Given the description of an element on the screen output the (x, y) to click on. 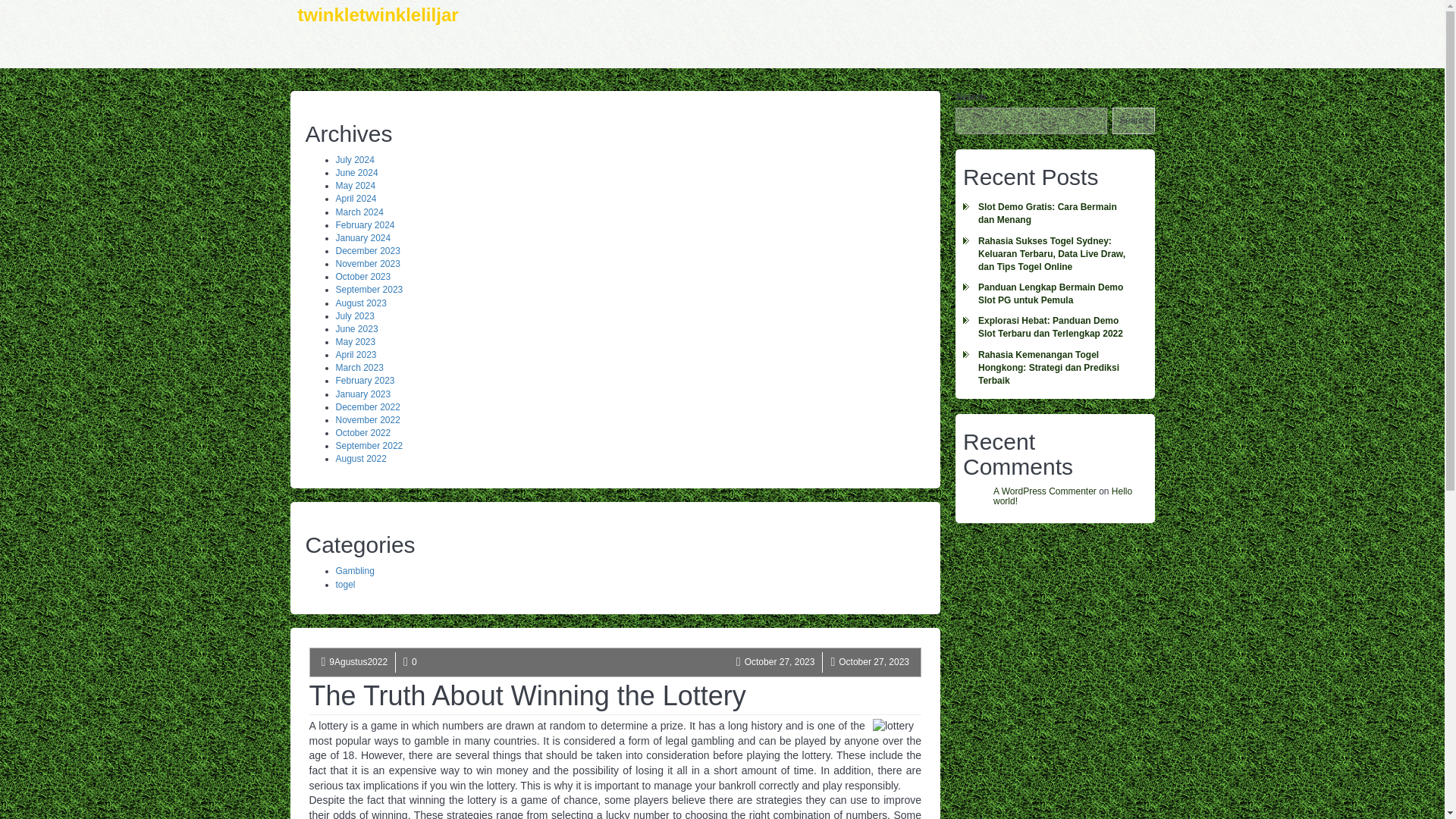
February 2024 (364, 225)
Panduan Lengkap Bermain Demo Slot PG untuk Pemula (1054, 294)
September 2023 (368, 289)
February 2023 (364, 380)
August 2023 (359, 303)
October 2023 (362, 276)
March 2024 (358, 212)
October 2022 (362, 432)
November 2023 (366, 263)
December 2022 (366, 407)
July 2023 (354, 316)
August 2022 (359, 458)
June 2024 (355, 172)
July 2024 (354, 159)
May 2023 (354, 341)
